Given the description of an element on the screen output the (x, y) to click on. 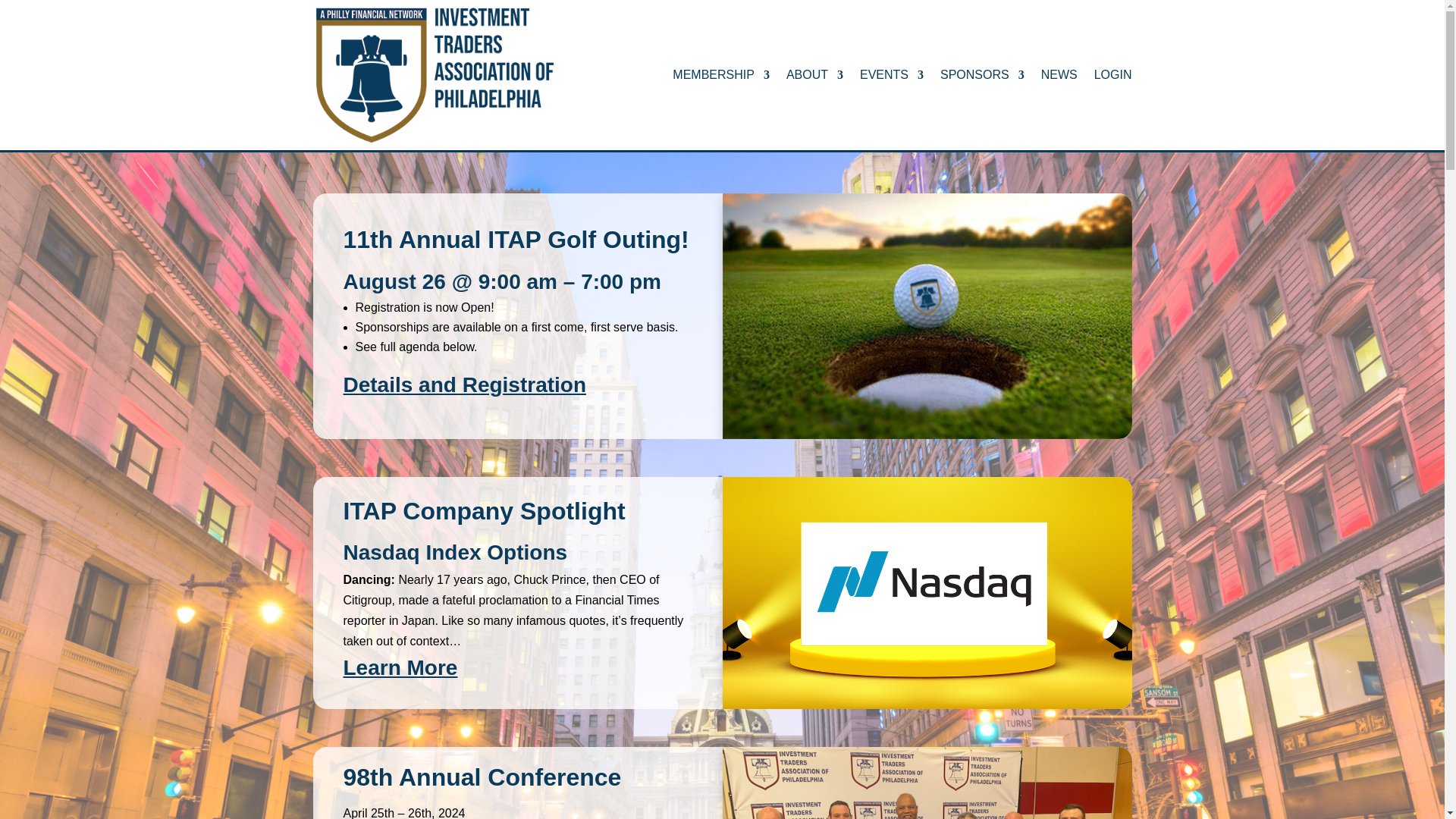
2024-Conference-HP (926, 782)
LOGIN (1113, 109)
SPONSORS (982, 109)
NEWS (1059, 109)
ABOUT (814, 109)
MEMBERSHIP (721, 109)
ITAP-Golf-500 (926, 315)
company-spotlight-Nasdaq (926, 592)
EVENTS (891, 109)
